Given the description of an element on the screen output the (x, y) to click on. 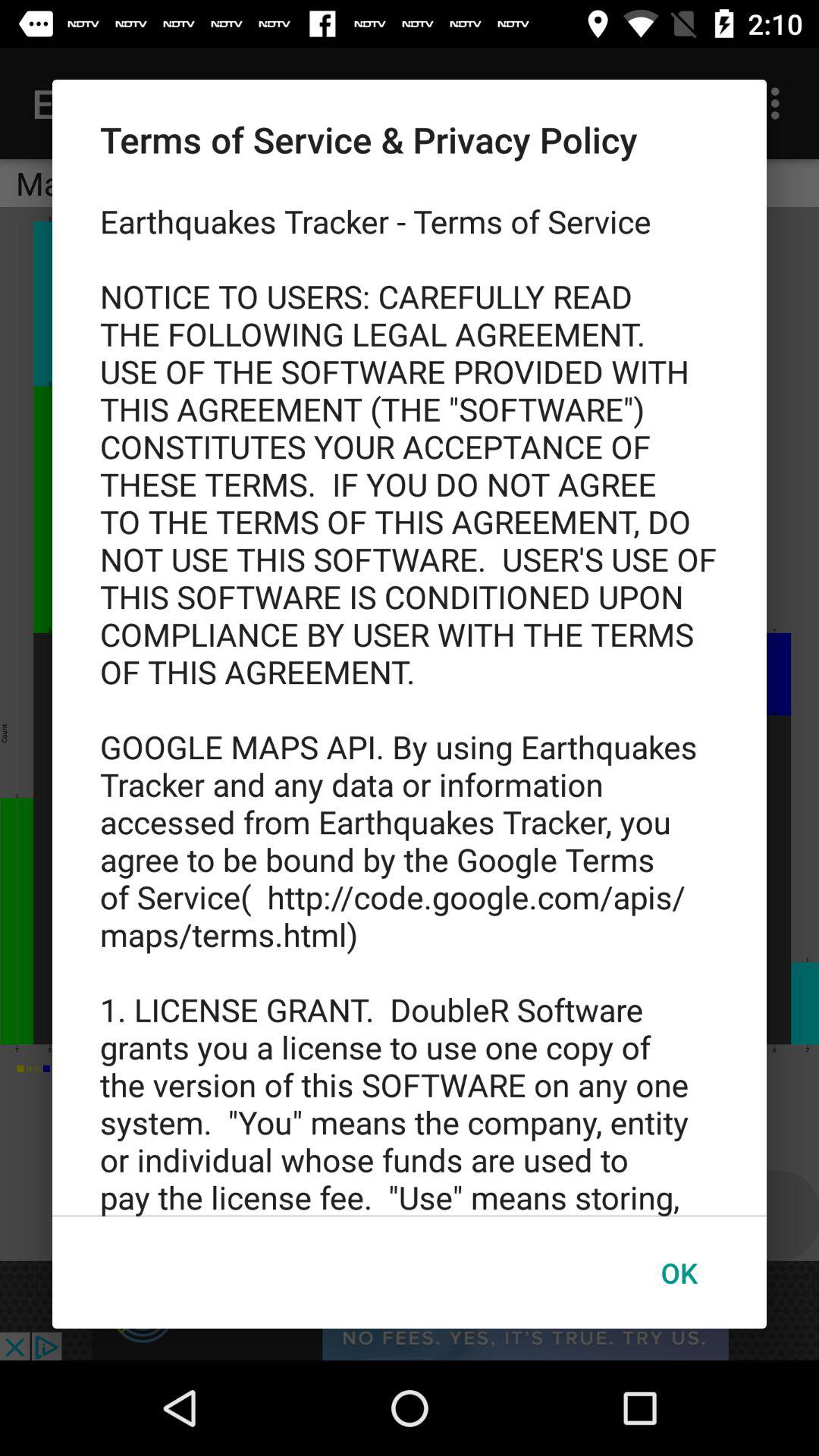
press the ok (678, 1272)
